Given the description of an element on the screen output the (x, y) to click on. 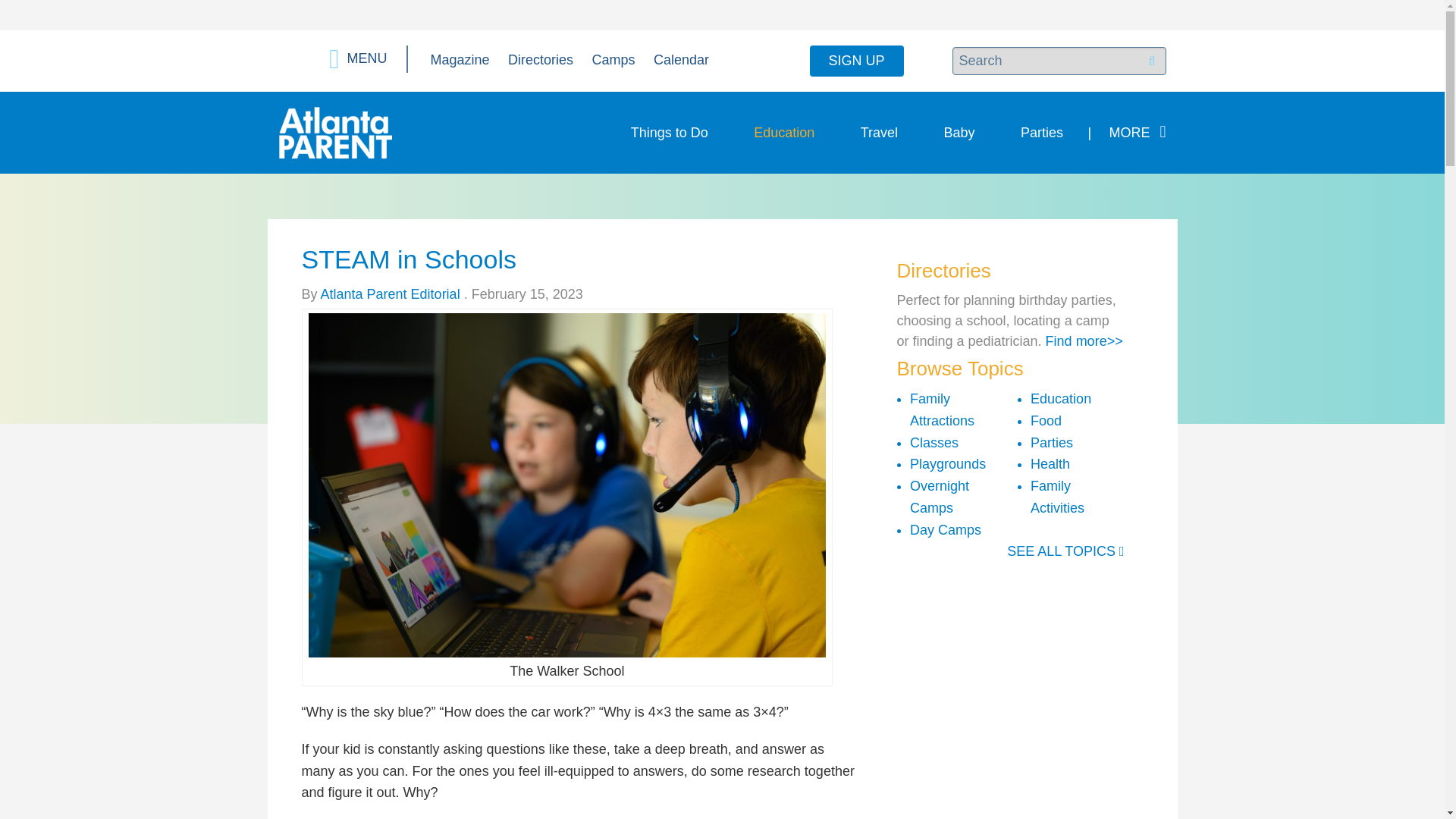
Magazine (459, 59)
Calendar (681, 59)
Directories (540, 59)
MENU (358, 58)
Camps (612, 59)
SIGN UP (856, 60)
Atlanta Parent (335, 131)
